Given the description of an element on the screen output the (x, y) to click on. 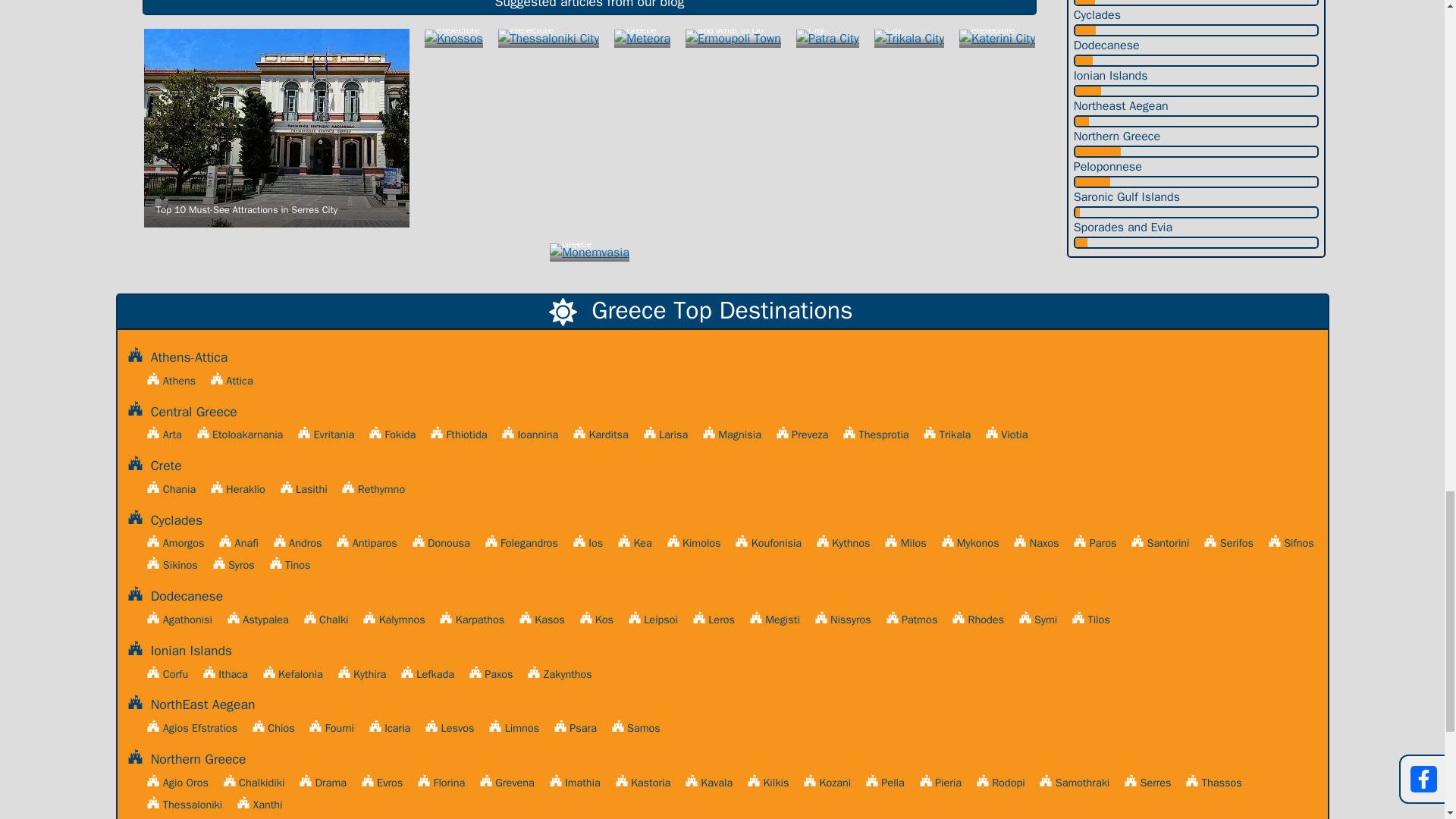
Top 10 Must-See Attractions in Serres City (276, 128)
Top 10 Most Beautiful Villages in Greece (589, 252)
Top 10 Most Beautiful Villages in Greece (589, 252)
Top 10 Must-See Attractions in Serres City (276, 128)
